Given the description of an element on the screen output the (x, y) to click on. 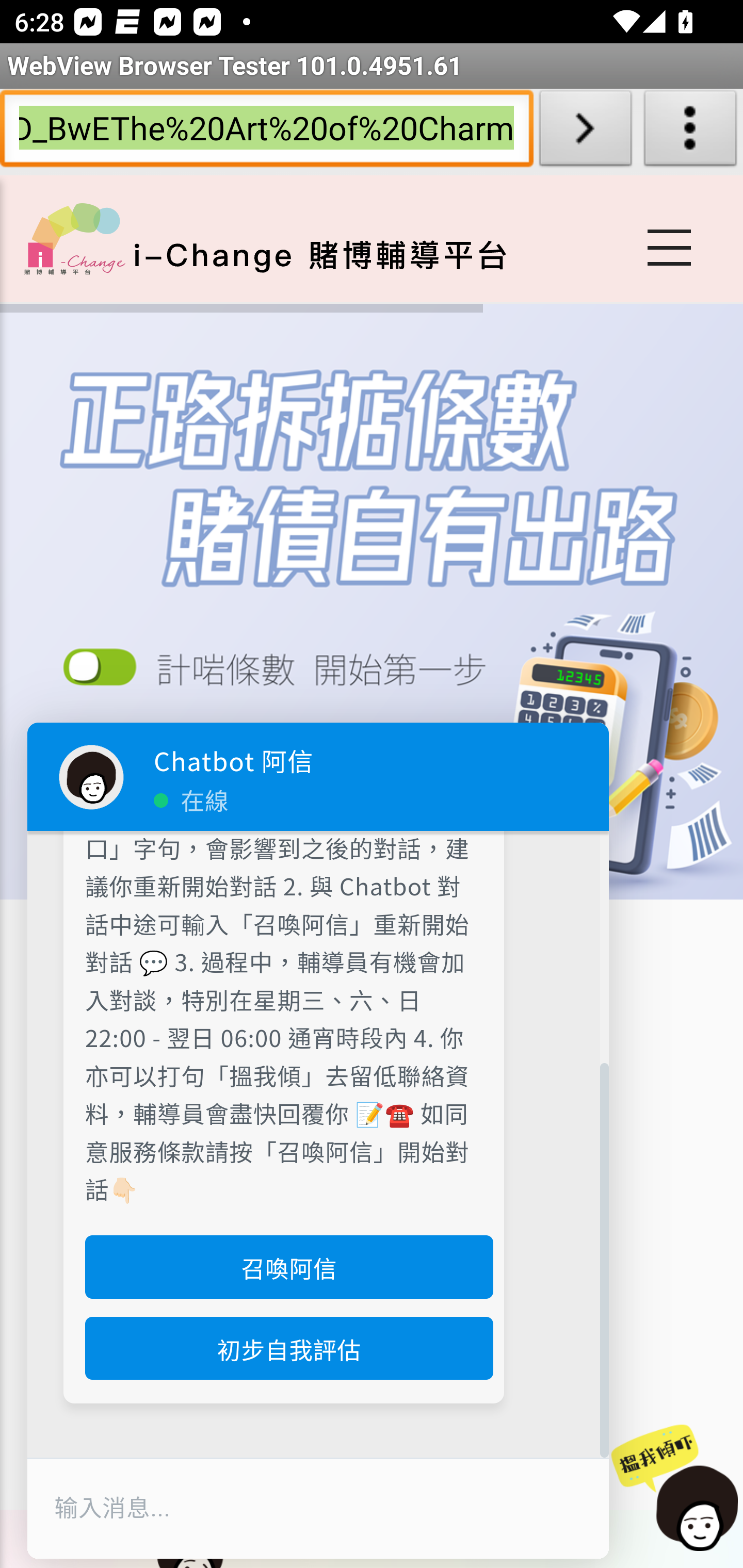
Load URL (585, 132)
About WebView (690, 132)
Home (74, 238)
查閱私隱政策 (283, 674)
Chat Now (675, 1488)
